Given the description of an element on the screen output the (x, y) to click on. 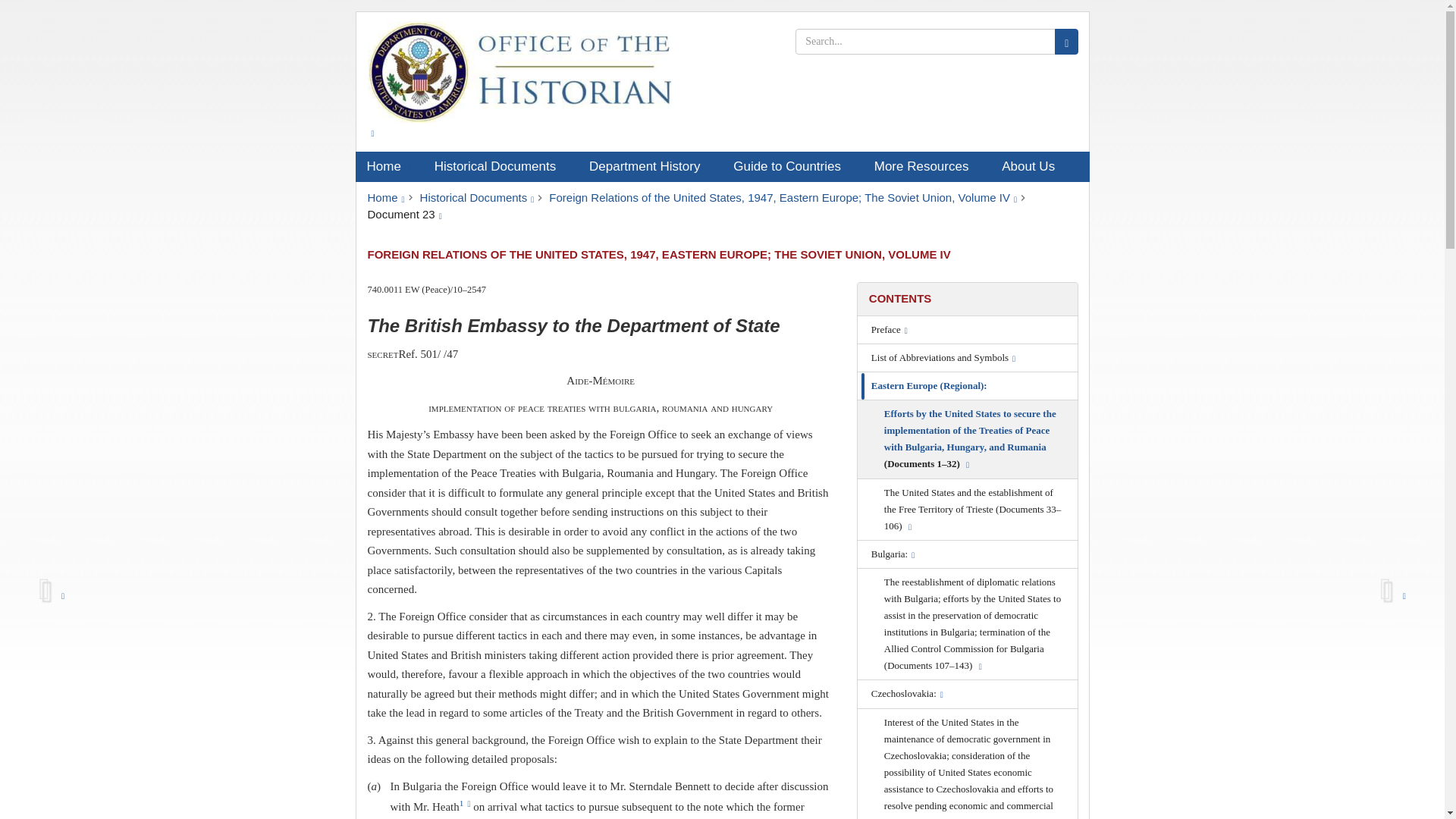
Document 23 (403, 214)
Guide to Countries (792, 166)
Historical Documents (477, 196)
Department History (650, 166)
About Us (1033, 166)
Historical Documents (500, 166)
Home (385, 196)
Home (388, 166)
More Resources (926, 166)
